Given the description of an element on the screen output the (x, y) to click on. 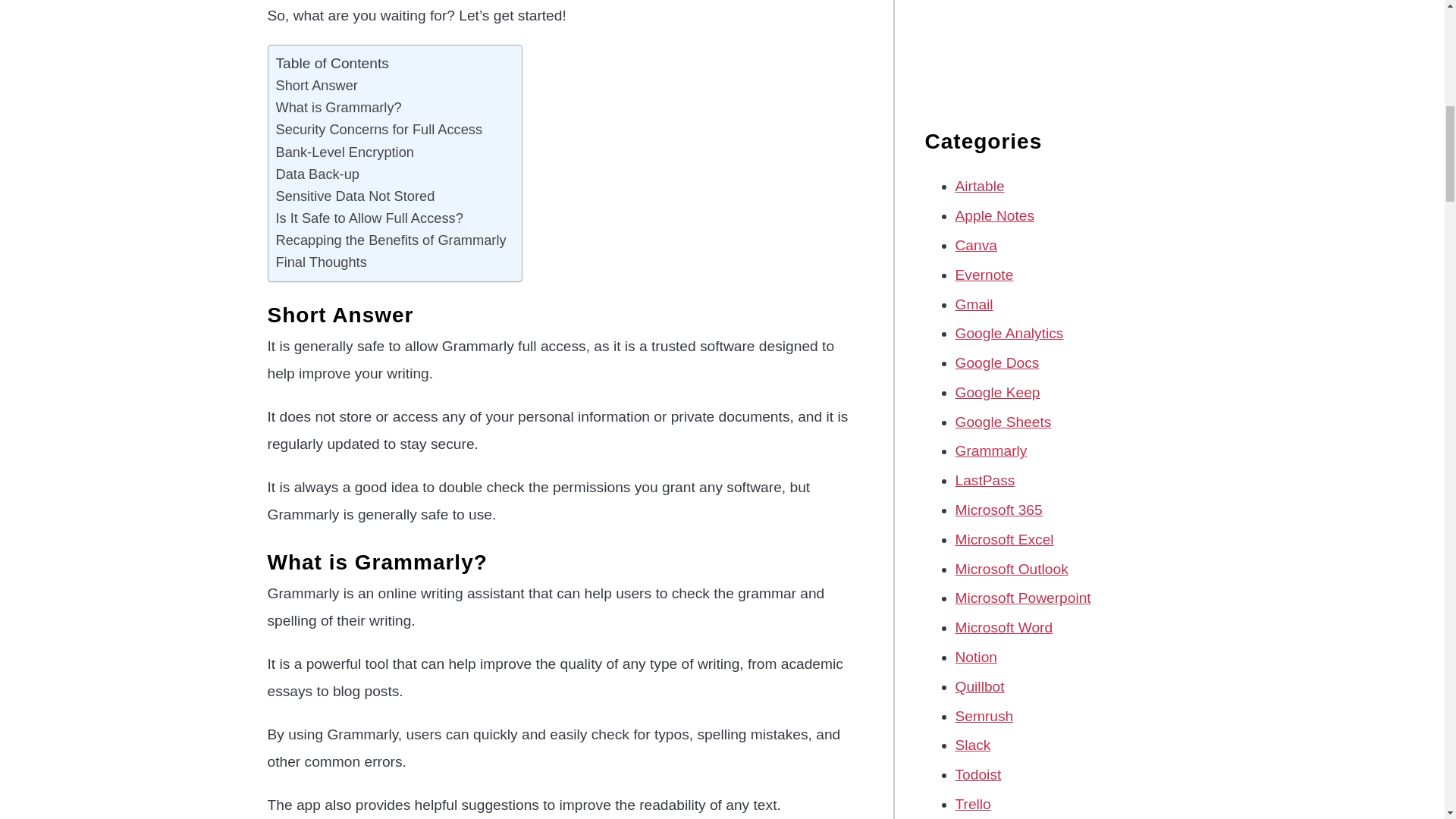
Is It Safe to Allow Full Access? (369, 218)
Airtable (979, 186)
What is Grammarly? (338, 106)
Is It Safe to Allow Full Access? (369, 218)
Data Back-up (317, 173)
Sensitive Data Not Stored (355, 196)
Sensitive Data Not Stored (355, 196)
Recapping the Benefits of Grammarly (391, 239)
Final Thoughts (321, 261)
What is Grammarly? (338, 106)
Bank-Level Encryption (344, 151)
Final Thoughts (321, 261)
Short Answer (317, 85)
Bank-Level Encryption (344, 151)
Apple Notes (995, 215)
